Given the description of an element on the screen output the (x, y) to click on. 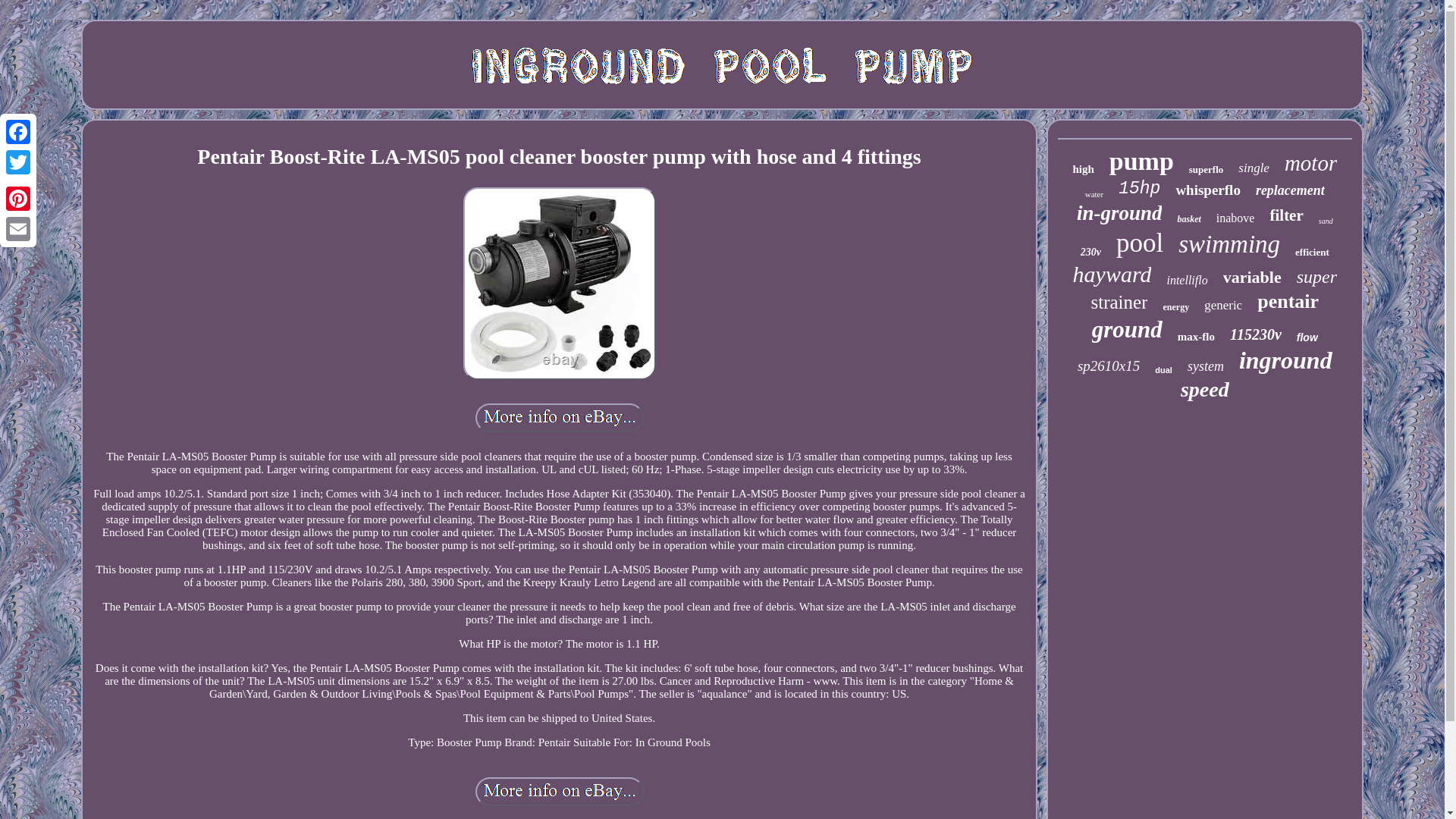
pool (1139, 243)
single (1254, 168)
generic (1222, 305)
pentair (1288, 301)
swimming (1228, 244)
Twitter (17, 162)
intelliflo (1186, 280)
efficient (1312, 252)
water (1093, 194)
in-ground (1119, 213)
pump (1141, 161)
Pinterest (17, 198)
energy (1175, 307)
max-flo (1195, 336)
